Given the description of an element on the screen output the (x, y) to click on. 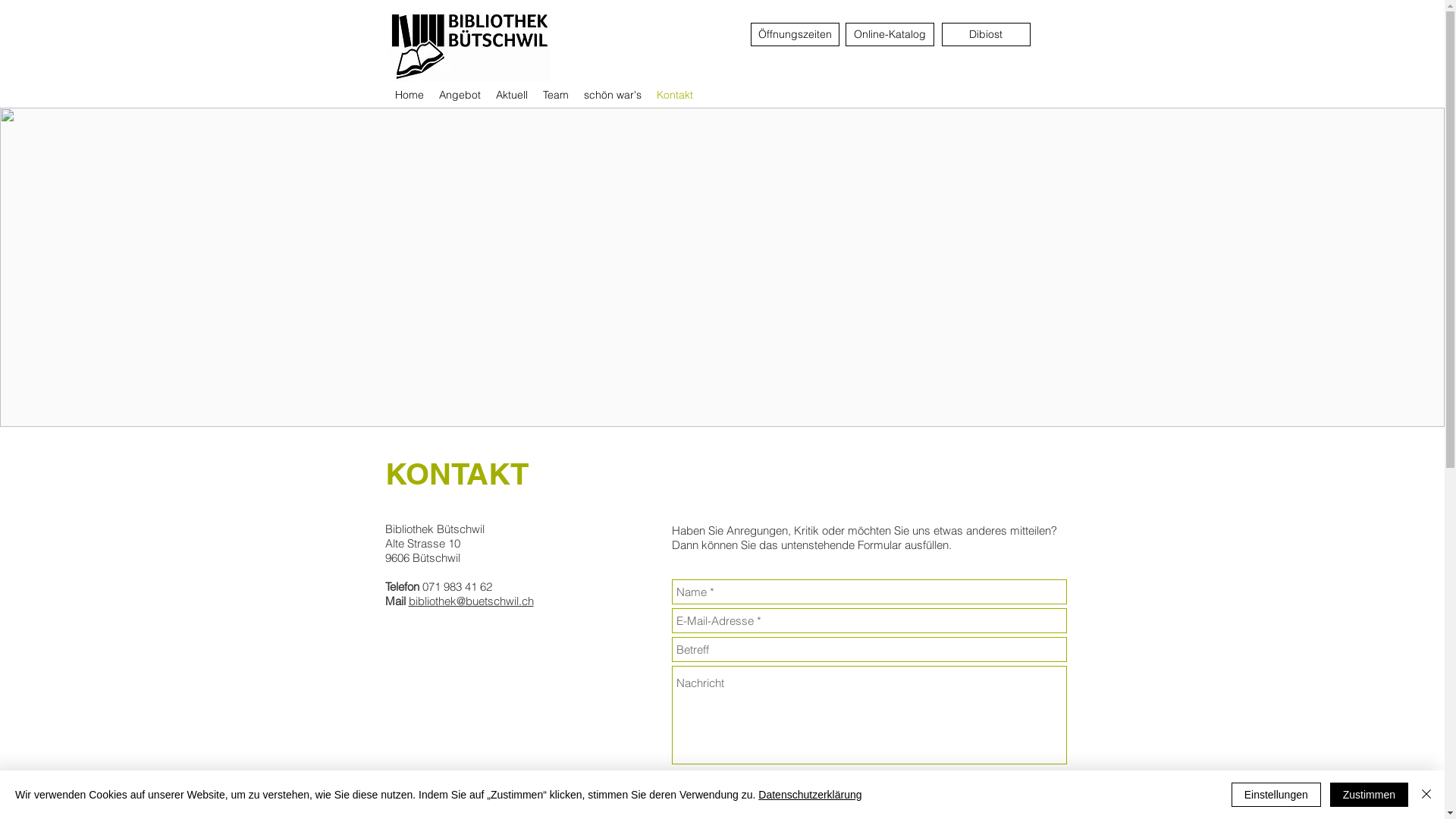
bibliothek@buetschwil.ch Element type: text (470, 600)
abschicken Element type: text (1034, 781)
Home Element type: text (408, 94)
Online-Katalog Element type: text (888, 34)
Team Element type: text (555, 94)
Einstellungen Element type: text (1276, 794)
Aktuell Element type: text (511, 94)
Dibiost Element type: text (985, 34)
Zustimmen Element type: text (1369, 794)
Kontakt Element type: text (674, 94)
Angebot Element type: text (458, 94)
